Given the description of an element on the screen output the (x, y) to click on. 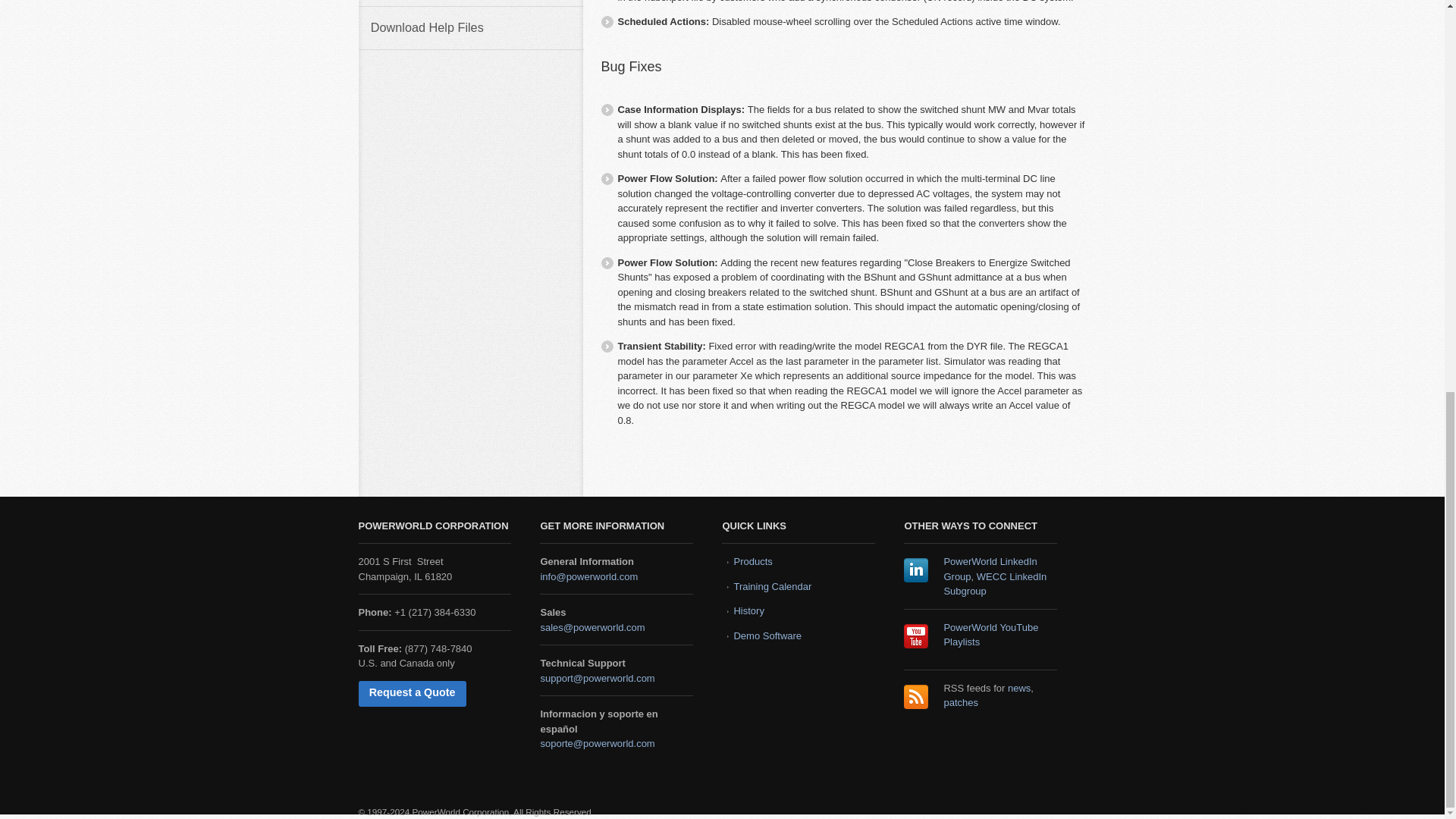
linked-in (916, 569)
Request a Quote (411, 693)
rss-large (916, 696)
youtube (916, 636)
